Given the description of an element on the screen output the (x, y) to click on. 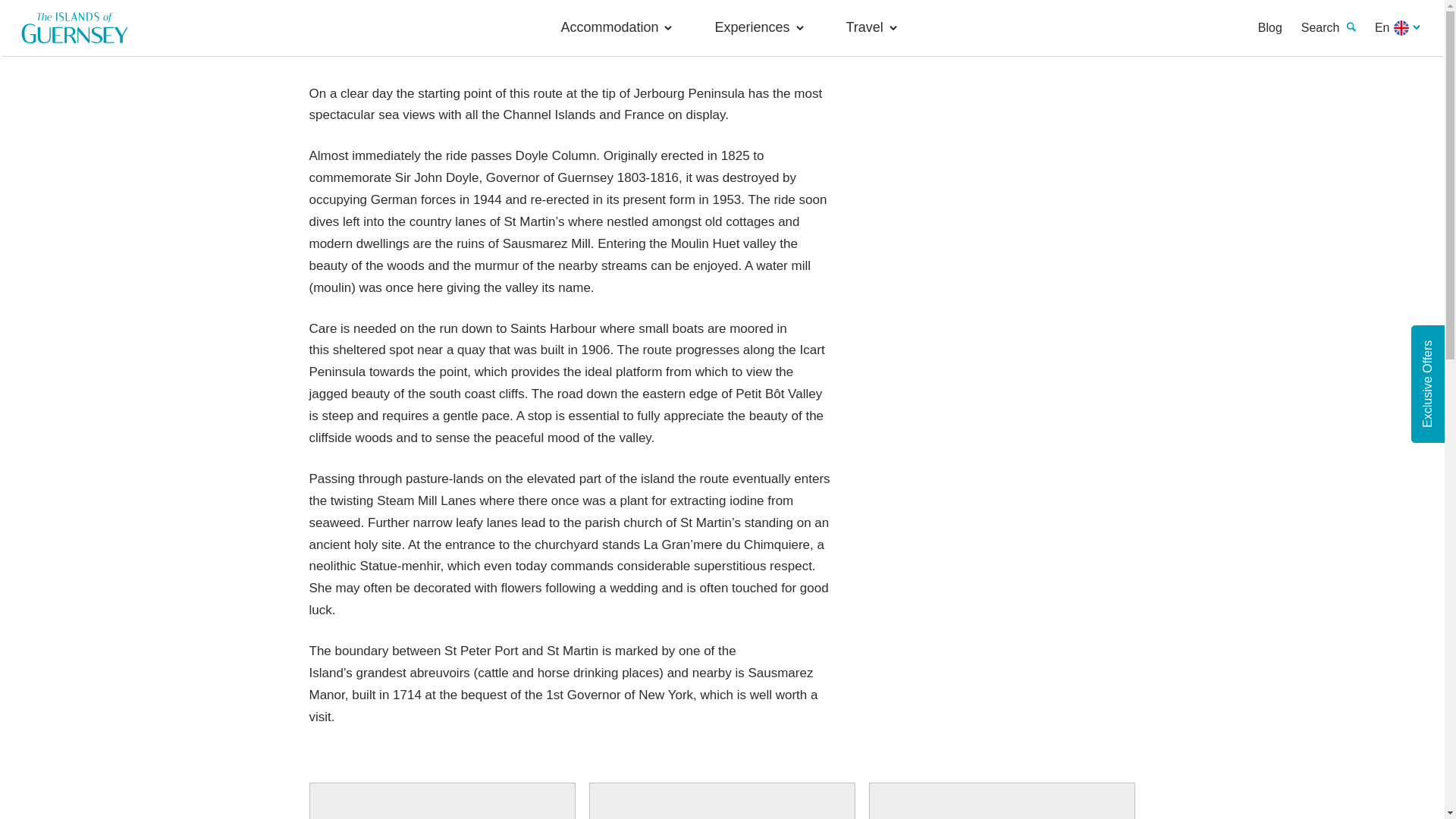
Accommodation (622, 27)
Experiences (765, 27)
